Given the description of an element on the screen output the (x, y) to click on. 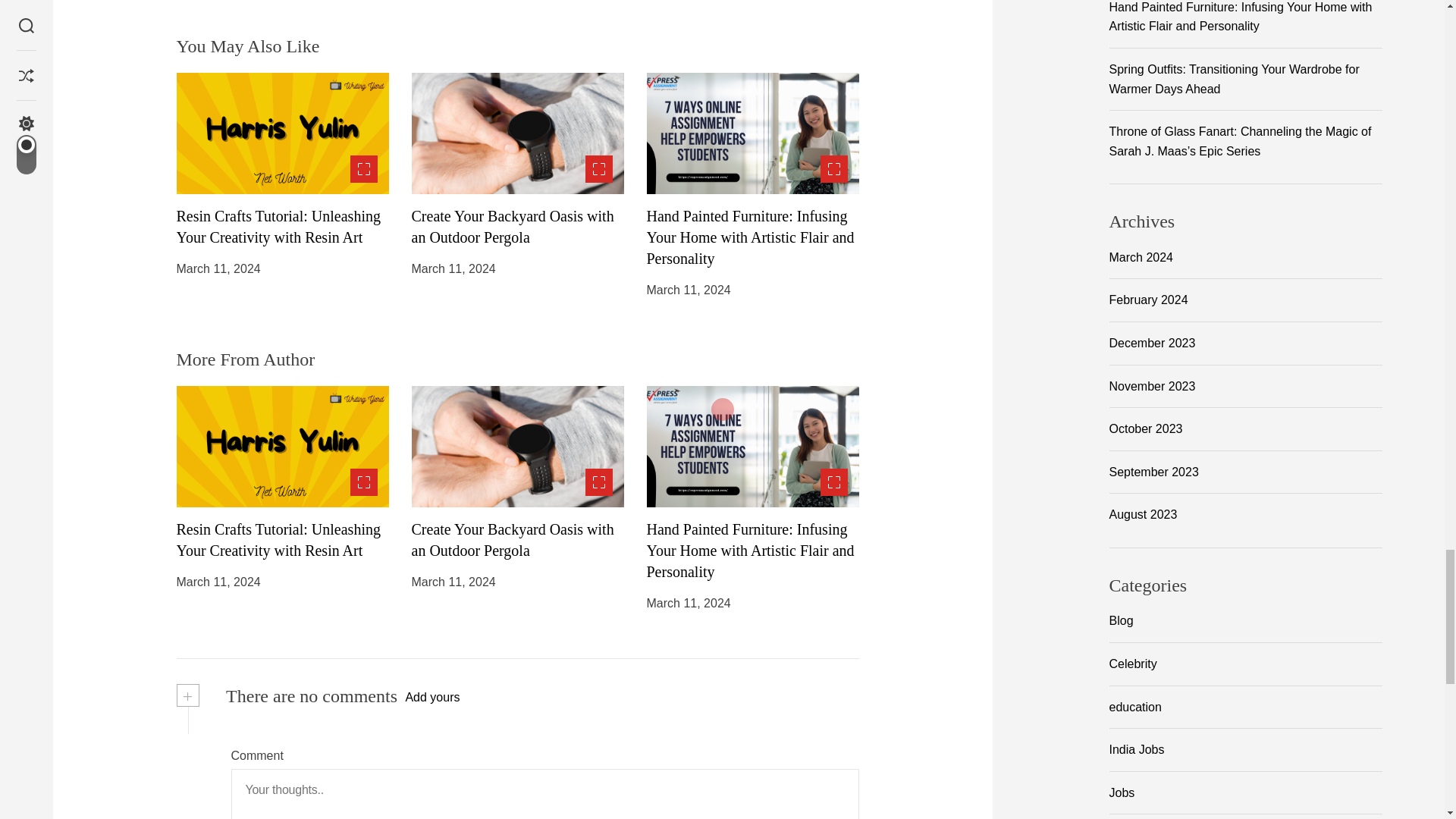
Add yours (432, 697)
Create Your Backyard Oasis with an Outdoor Pergola (511, 539)
Create Your Backyard Oasis with an Outdoor Pergola (511, 226)
